Given the description of an element on the screen output the (x, y) to click on. 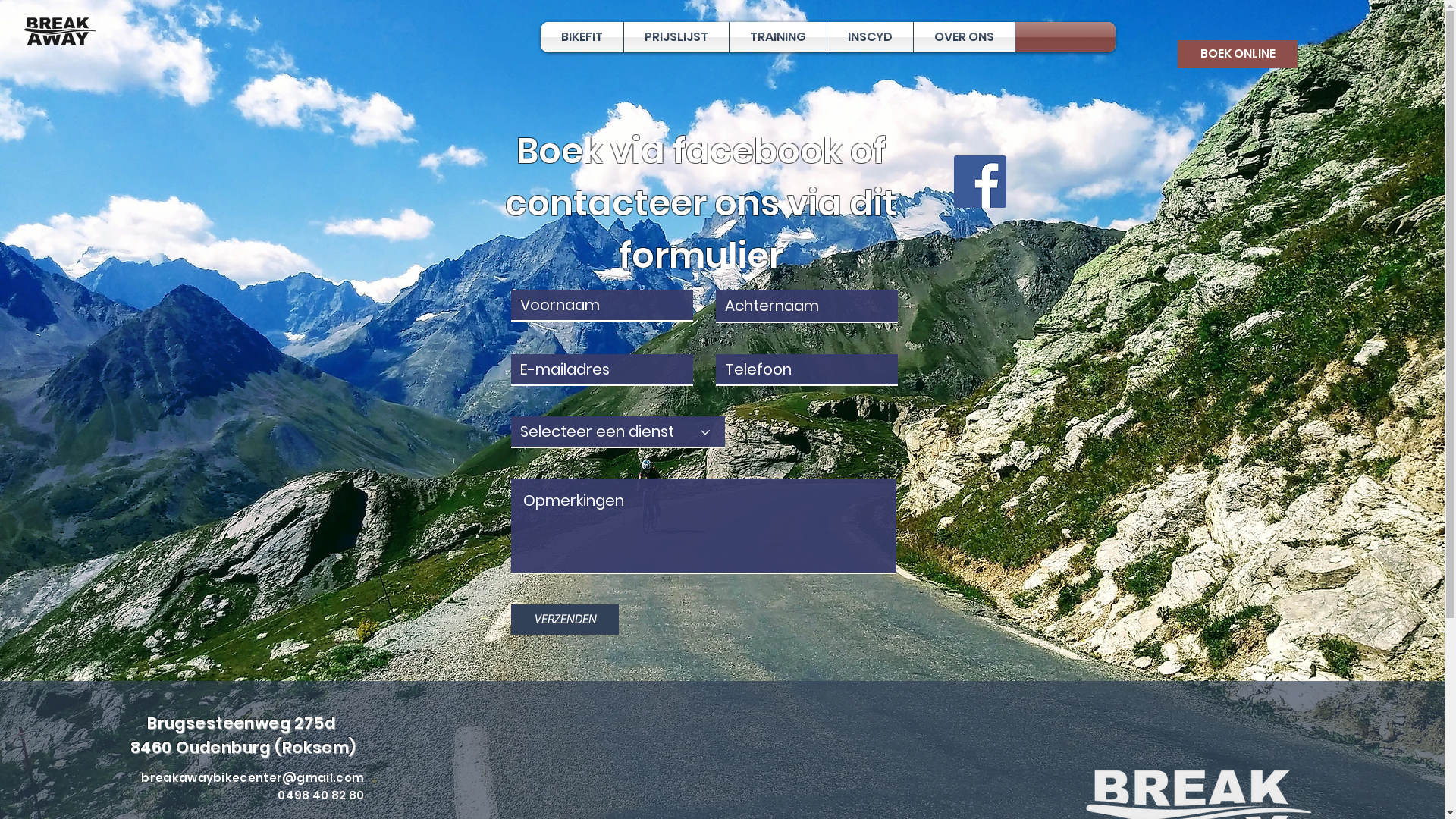
BOEK ONLINE Element type: text (1237, 54)
TRAINING Element type: text (777, 36)
OVER ONS Element type: text (963, 36)
thumbnail_BA - Zwart.png Element type: hover (57, 31)
CONTACT Element type: text (1065, 36)
breakawaybikecenter@gmail.com Element type: text (252, 777)
VERZENDEN Element type: text (564, 619)
BIKEFIT Element type: text (581, 36)
INSCYD Element type: text (870, 36)
PRIJSLIJST Element type: text (676, 36)
